Given the description of an element on the screen output the (x, y) to click on. 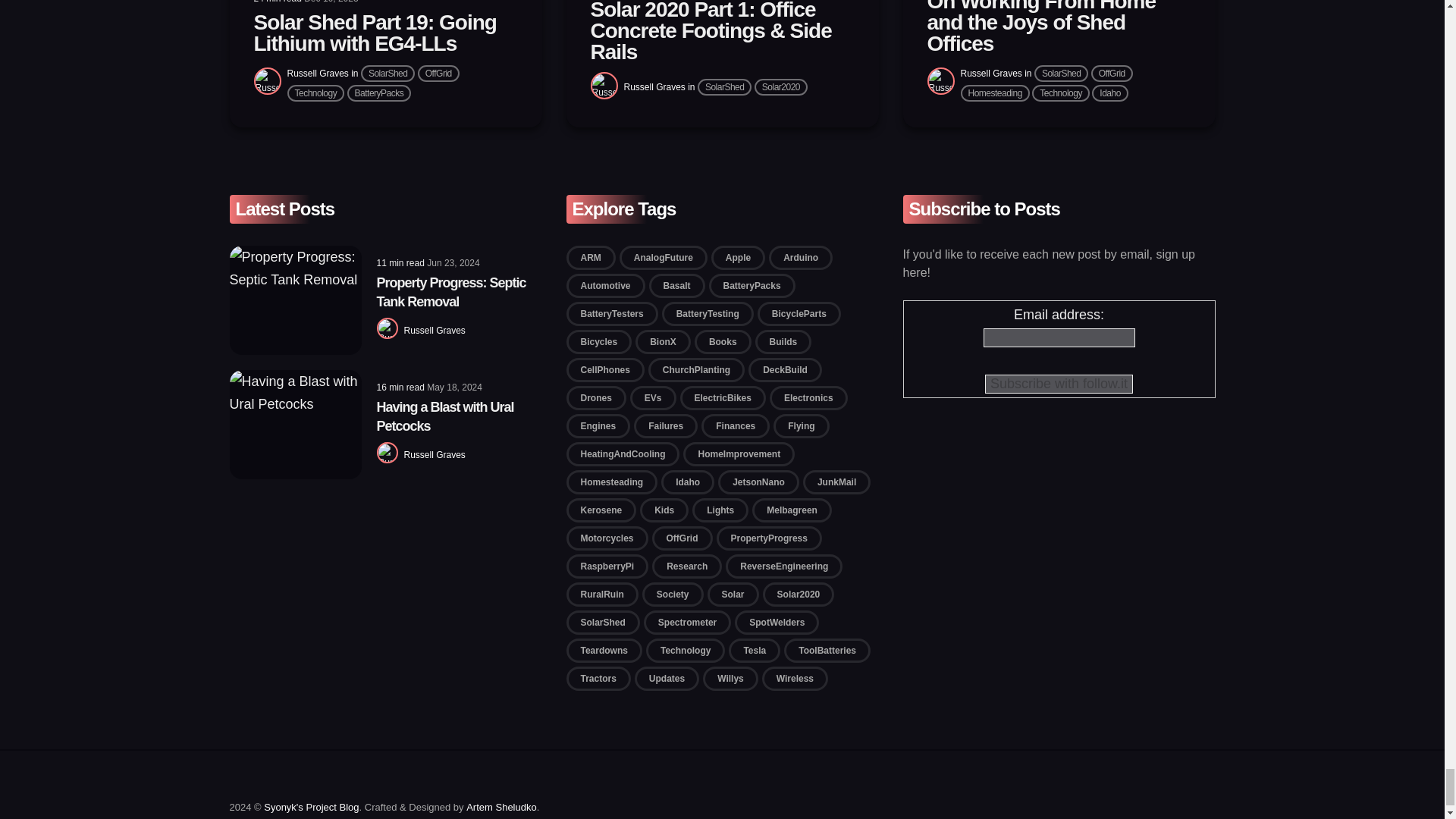
Subscribe with follow.it (1058, 383)
Technology (314, 93)
BatteryPacks (379, 93)
OffGrid (438, 73)
Russell Graves (653, 86)
SolarShed (387, 73)
Russell Graves (316, 72)
